Given the description of an element on the screen output the (x, y) to click on. 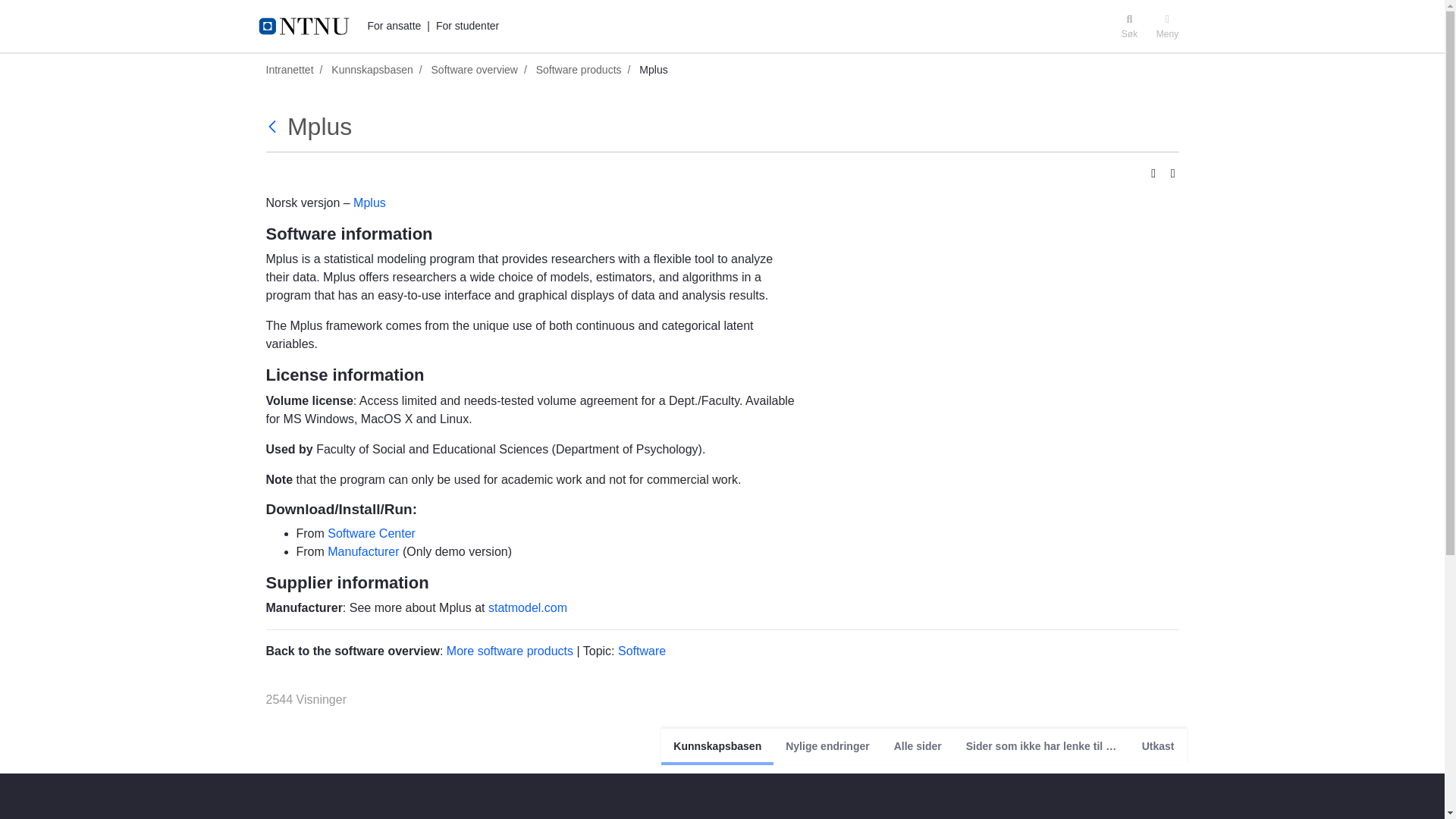
Software products (272, 126)
For studenter (467, 25)
i.ntnu.no (309, 26)
For ansatte (393, 25)
Meny (1167, 26)
